Given the description of an element on the screen output the (x, y) to click on. 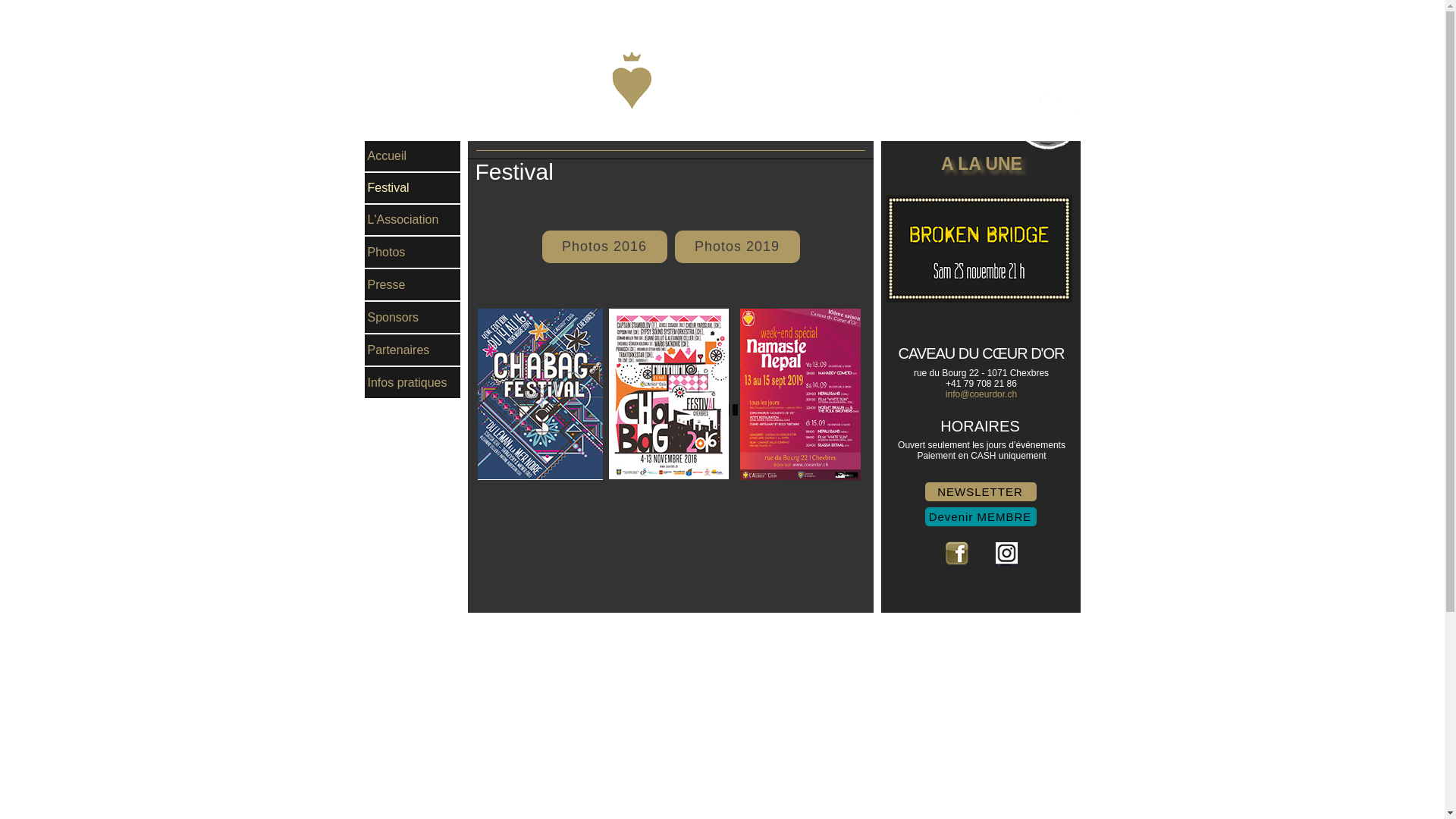
lien Element type: hover (1046, 117)
NEWSLETTER Element type: text (980, 491)
Photos 2019 Element type: text (737, 246)
Festival Element type: text (411, 187)
L'Association Element type: text (411, 219)
Sponsors Element type: text (411, 316)
instagram Element type: hover (1006, 553)
Devenir MEMBRE Element type: text (980, 516)
Presse Element type: text (411, 284)
Accueil Element type: text (411, 156)
Photos Element type: text (411, 251)
facebook Element type: hover (956, 553)
Partenaires Element type: text (411, 349)
Photos 2016 Element type: text (603, 246)
info@coeurdor.ch Element type: text (980, 394)
Infos pratiques Element type: text (411, 382)
